Given the description of an element on the screen output the (x, y) to click on. 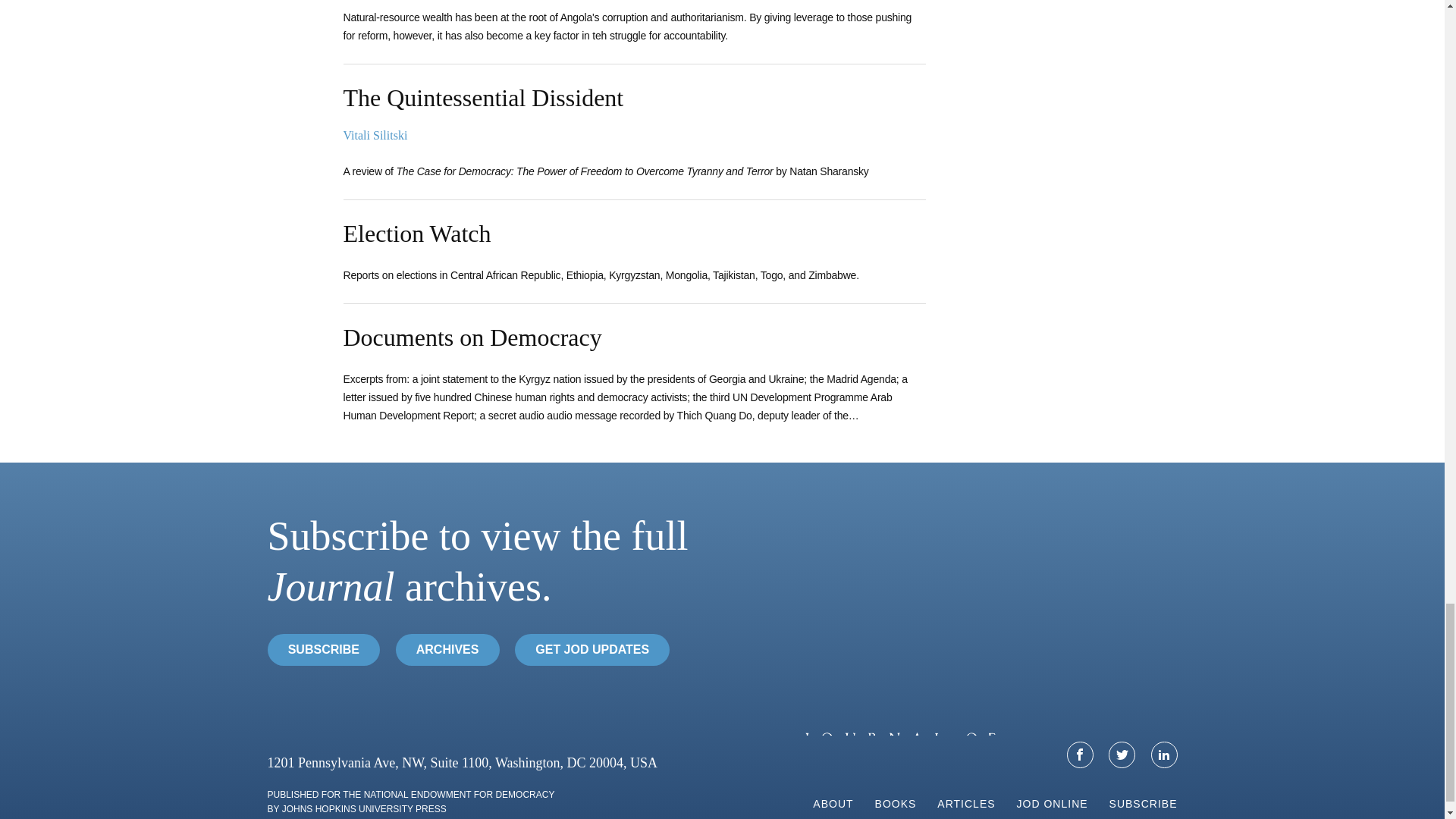
linkedin (1163, 754)
facebook (1080, 754)
Twitter (1121, 755)
twitter (1122, 754)
LinkedIn (1164, 755)
Facebook (1080, 755)
